Given the description of an element on the screen output the (x, y) to click on. 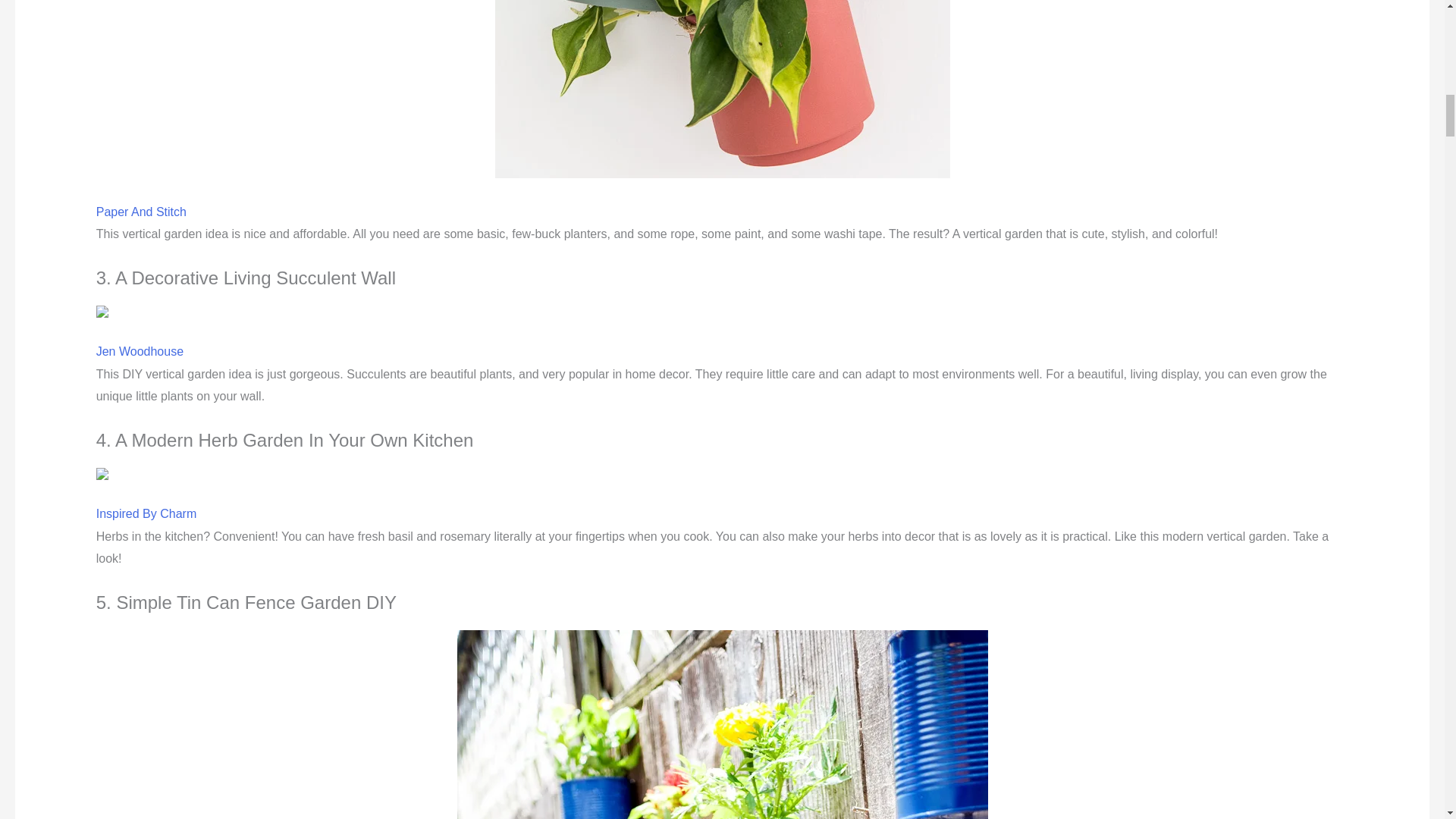
Jen Woodhouse (139, 350)
Inspired By Charm (146, 513)
Paper And Stitch (141, 211)
